Given the description of an element on the screen output the (x, y) to click on. 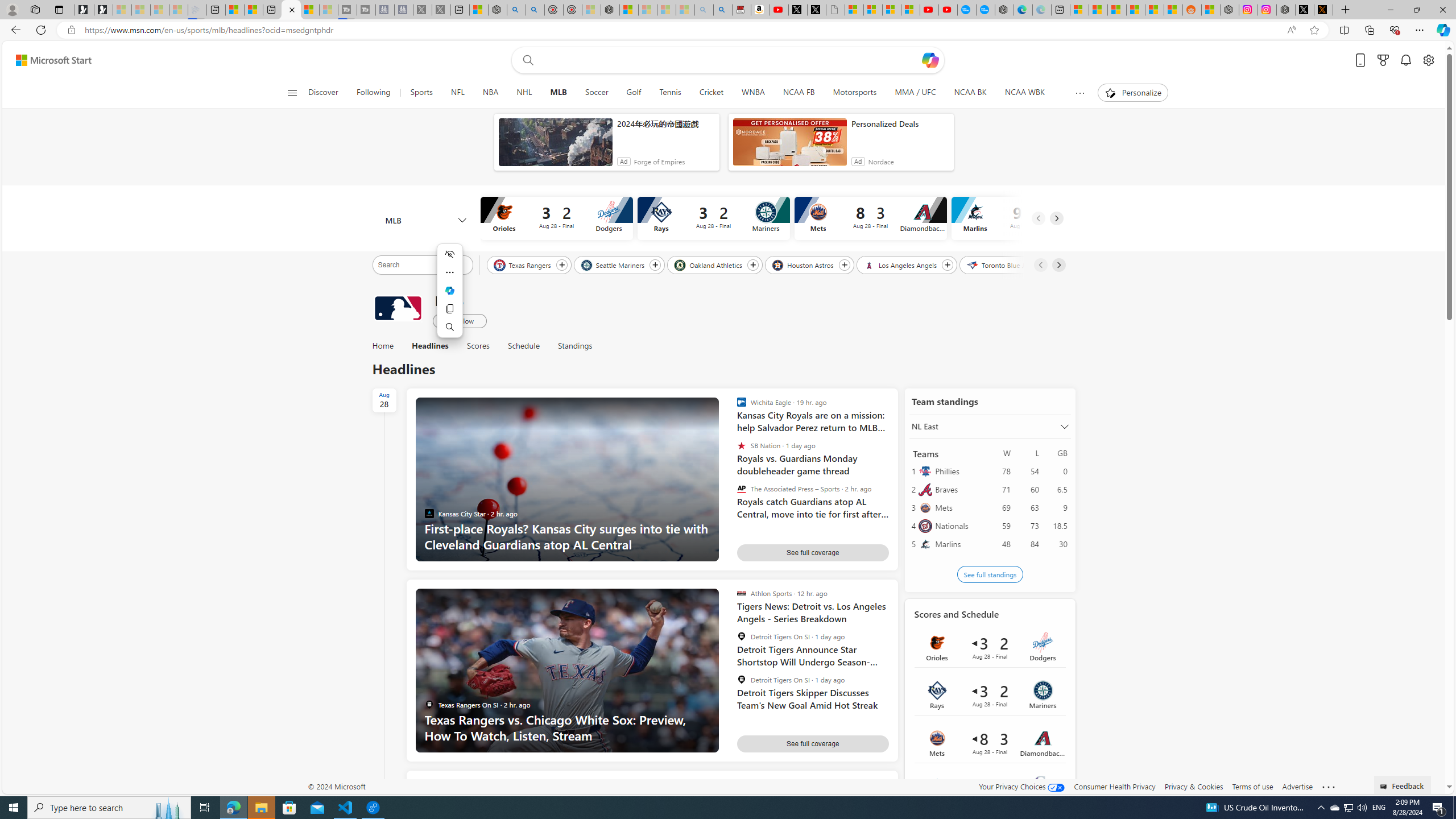
Follow Texas Rangers (561, 265)
Nordace - Nordace Siena Is Not An Ordinary Backpack (609, 9)
Schedule (523, 345)
NCAA BK (970, 92)
Nordace (@NordaceOfficial) / X (1304, 9)
NFL (456, 92)
Braves Surge In Extras, Take Down Twins on Wednesday Night (812, 797)
